Given the description of an element on the screen output the (x, y) to click on. 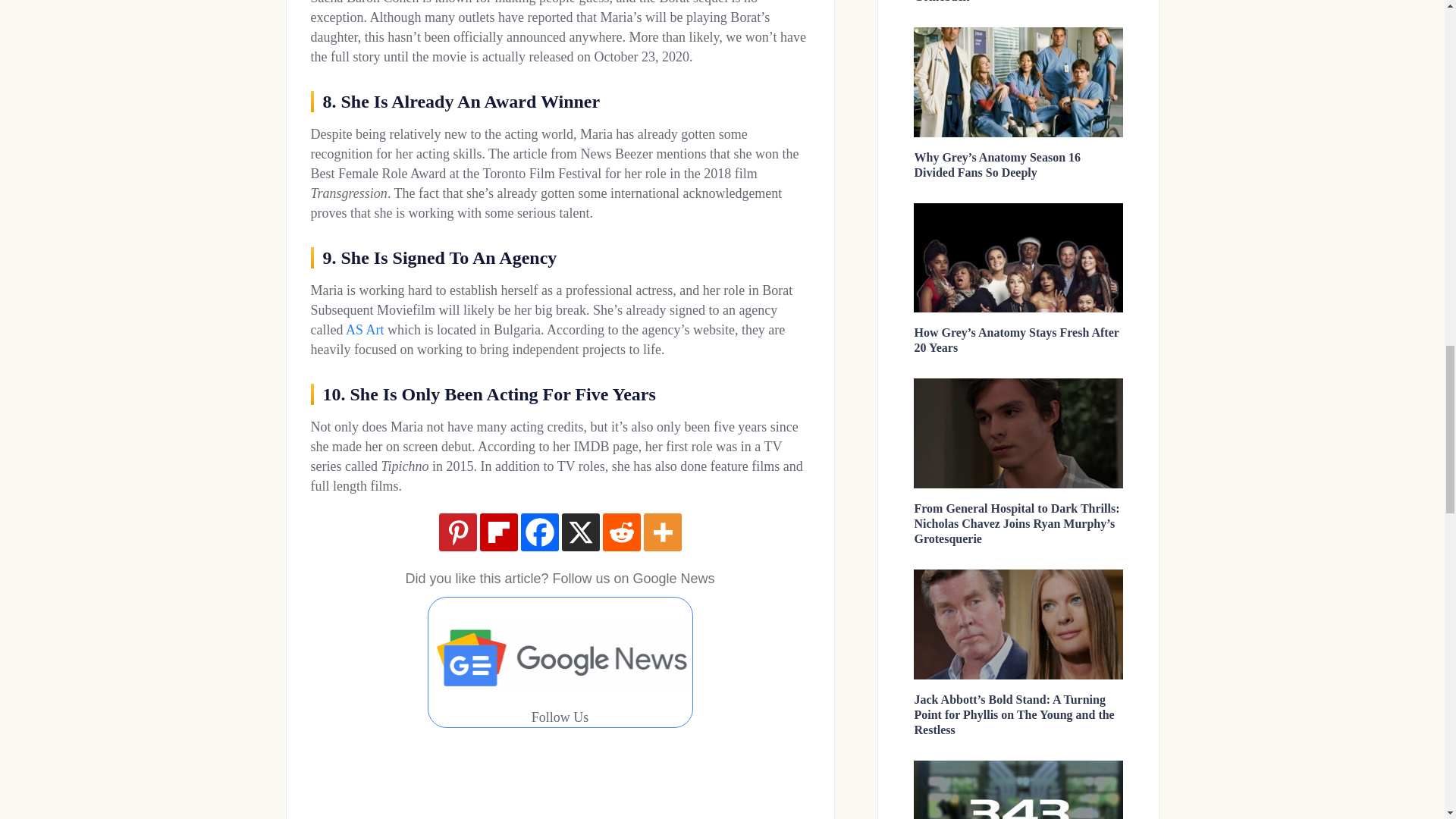
Flipboard (497, 532)
X (579, 532)
More (662, 532)
Reddit (621, 532)
Pinterest (457, 532)
Facebook (538, 532)
